Given the description of an element on the screen output the (x, y) to click on. 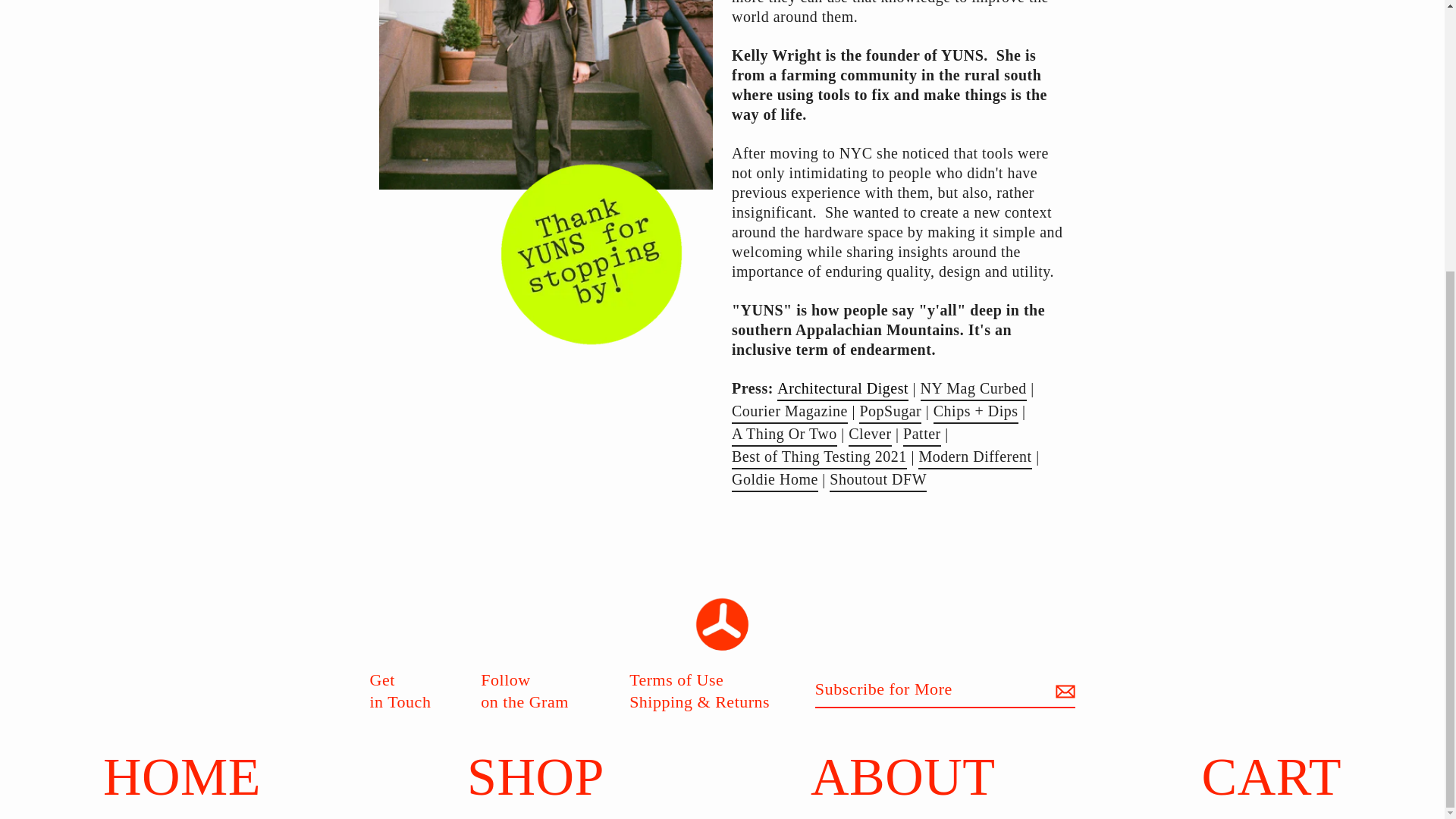
Modern Different Guest Picks (974, 457)
Clever (869, 435)
SHOP (535, 381)
HOME (417, 698)
Modern Different (181, 381)
Goldie Home (974, 457)
Architectural Digest (775, 480)
ABOUT (842, 389)
CART (902, 381)
